Given the description of an element on the screen output the (x, y) to click on. 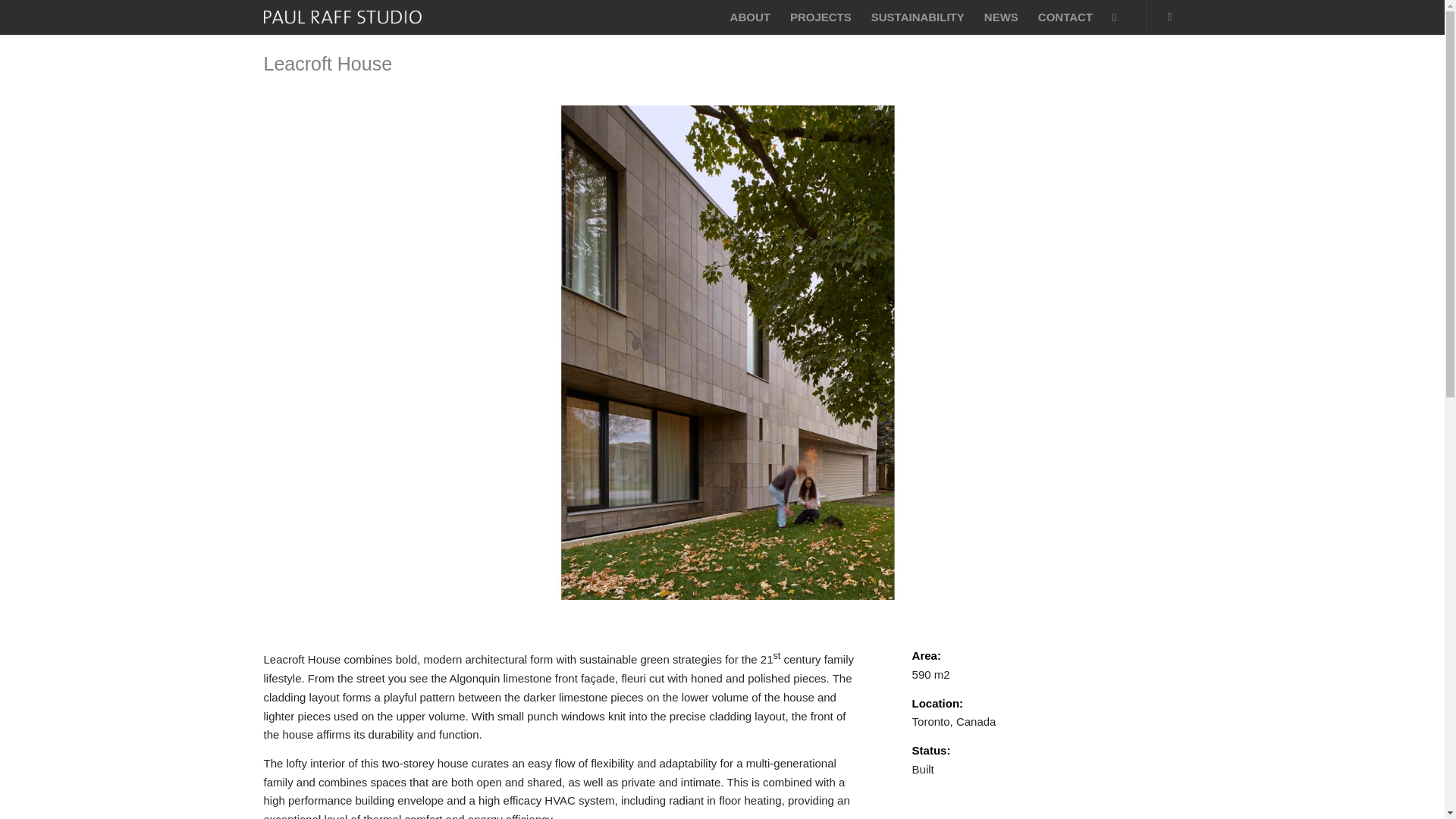
Instagram (1169, 15)
Permanent Link: Leacroft House (328, 63)
PROJECTS (820, 17)
NEWS (1000, 17)
CONTACT (1064, 17)
ABOUT (750, 17)
logo9 (357, 17)
Leacroft House (328, 63)
SUSTAINABILITY (917, 17)
